Given the description of an element on the screen output the (x, y) to click on. 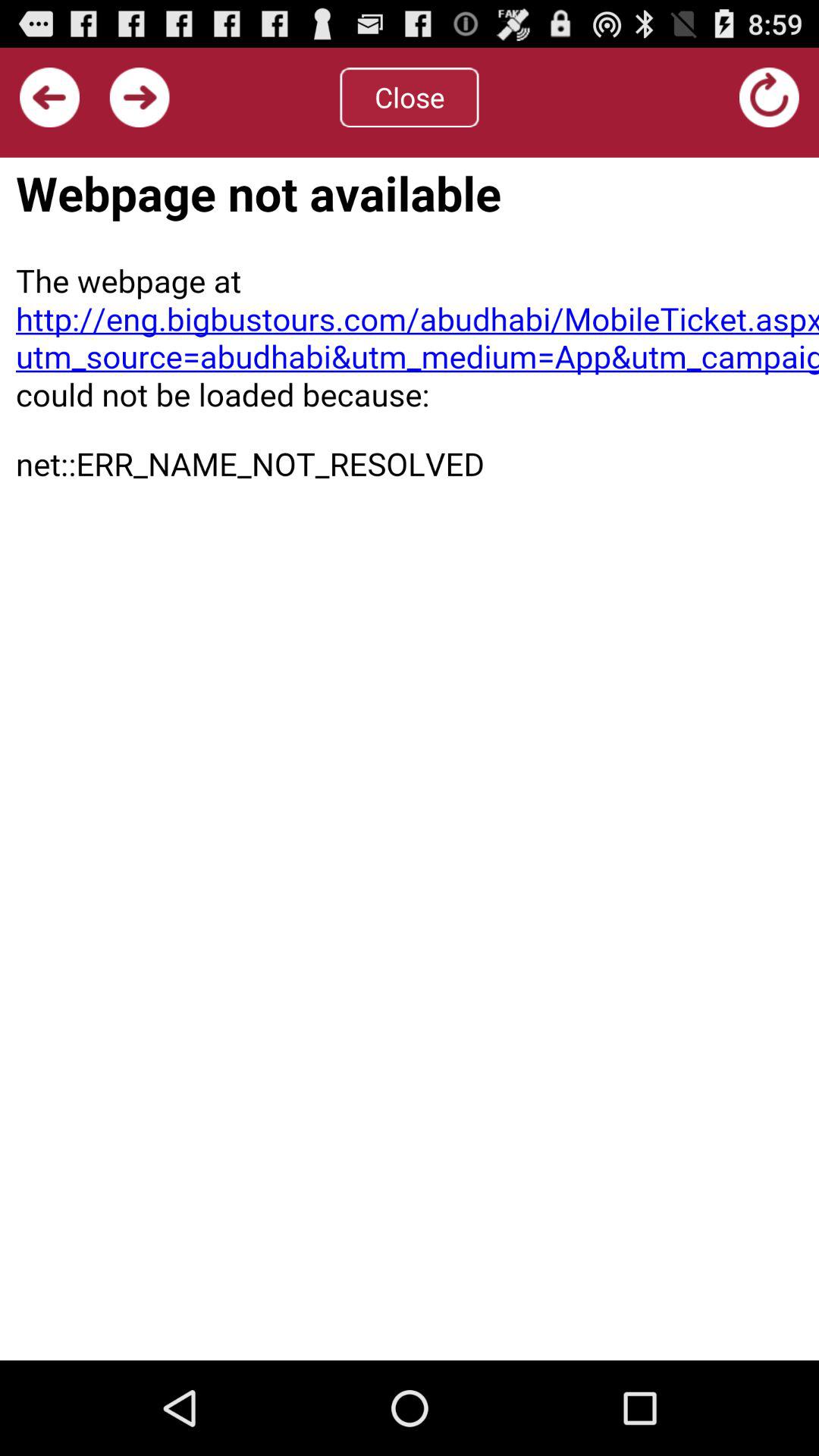
return to previous page (49, 97)
